Given the description of an element on the screen output the (x, y) to click on. 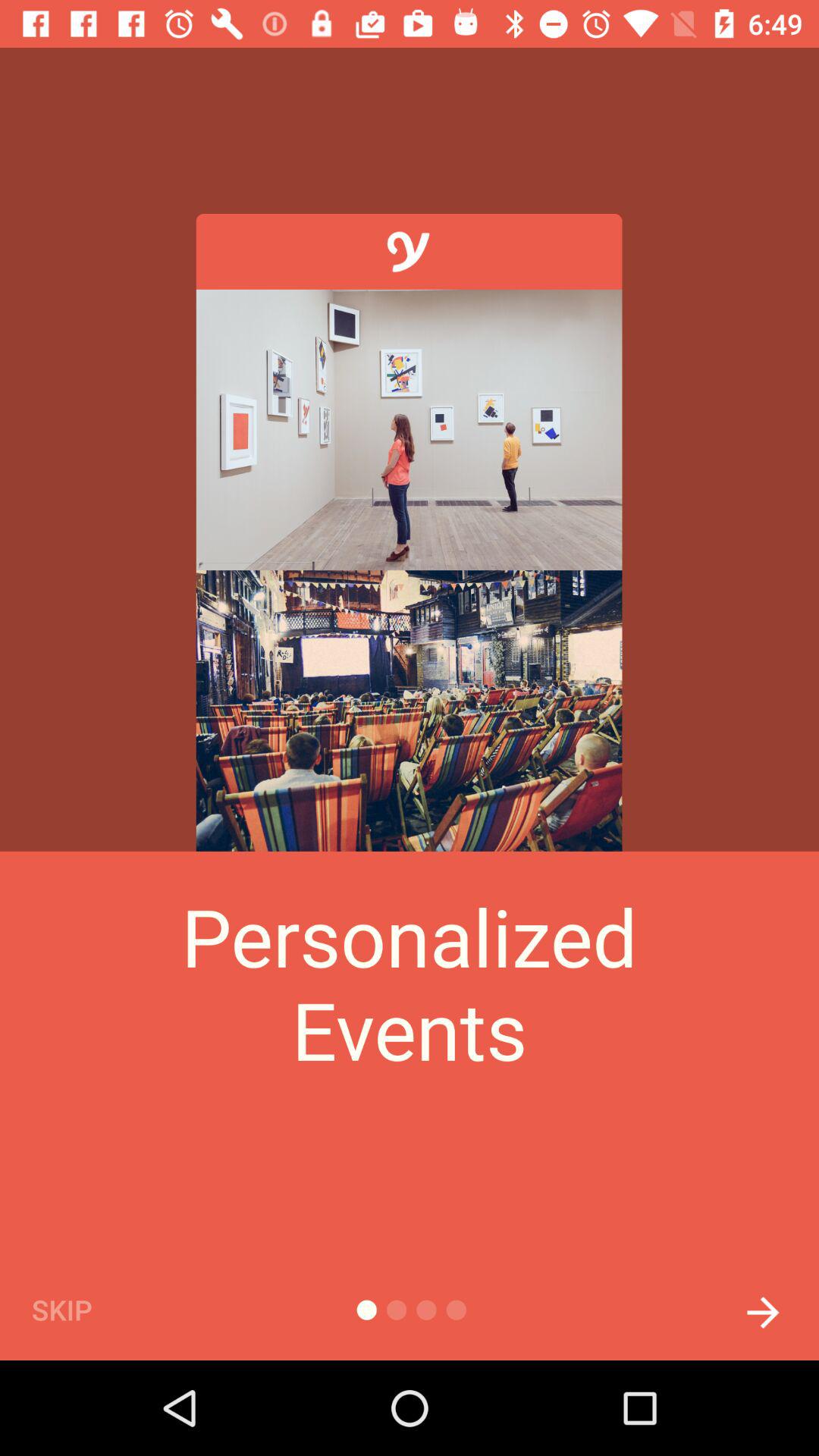
turn off item below the personalized
events item (763, 1308)
